Given the description of an element on the screen output the (x, y) to click on. 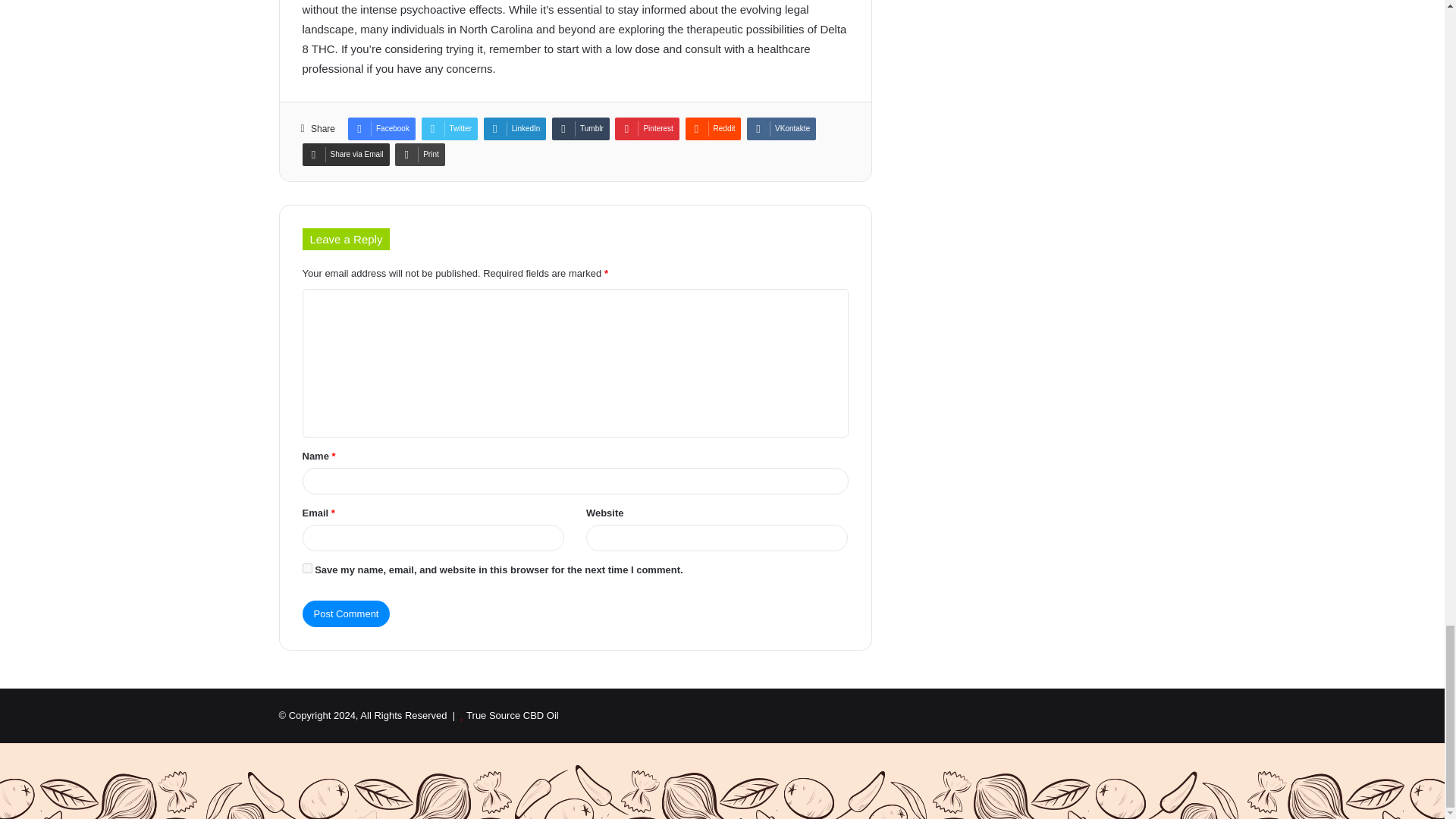
yes (306, 568)
Post Comment (345, 613)
